Given the description of an element on the screen output the (x, y) to click on. 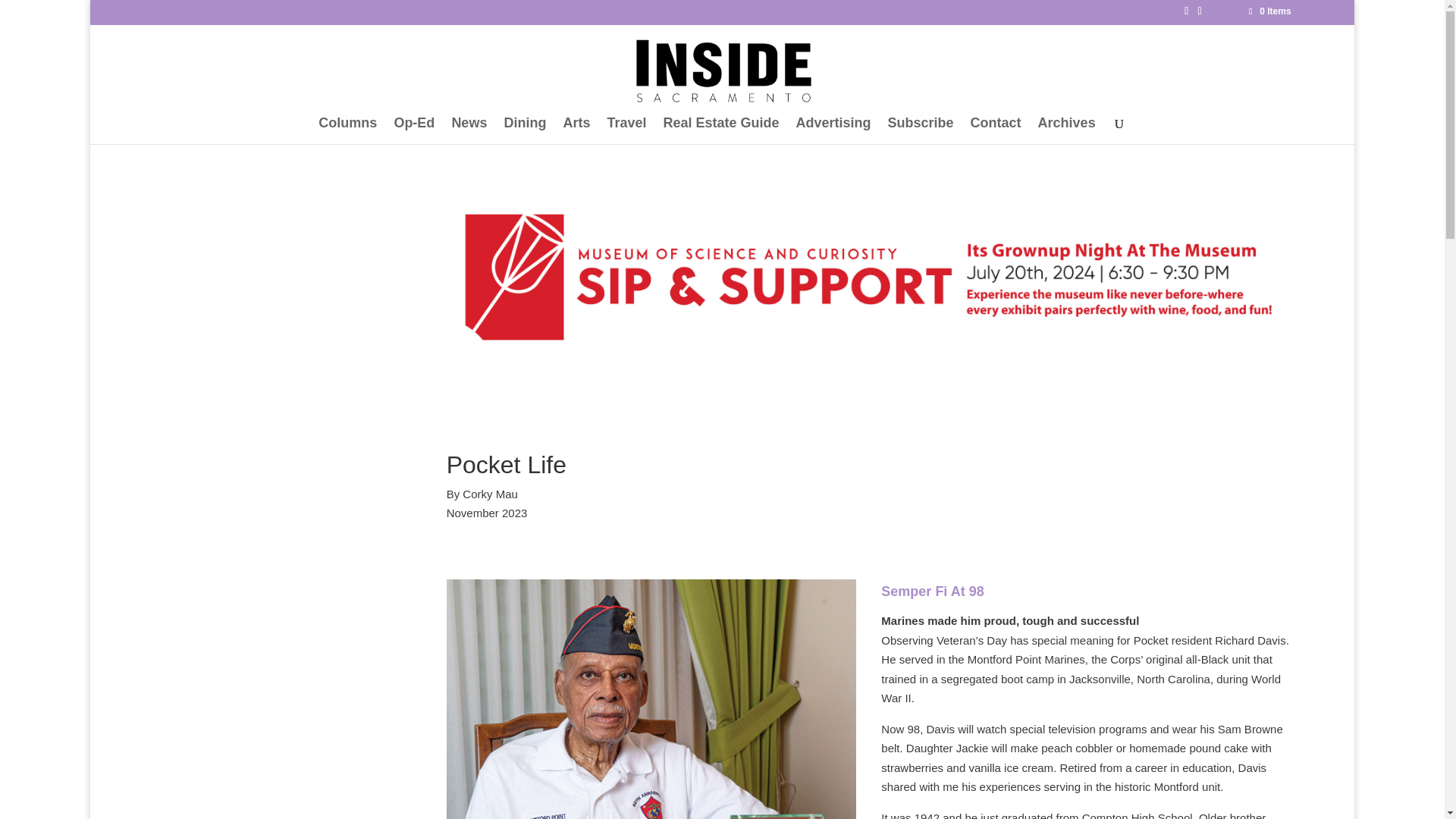
Archives (1067, 130)
News (468, 130)
Arts (575, 130)
Dining (524, 130)
Real Estate Guide (720, 130)
Contact (996, 130)
Op-Ed (413, 130)
Travel (626, 130)
Advertising (833, 130)
0 Items (1268, 10)
Subscribe (920, 130)
Columns (347, 130)
